Given the description of an element on the screen output the (x, y) to click on. 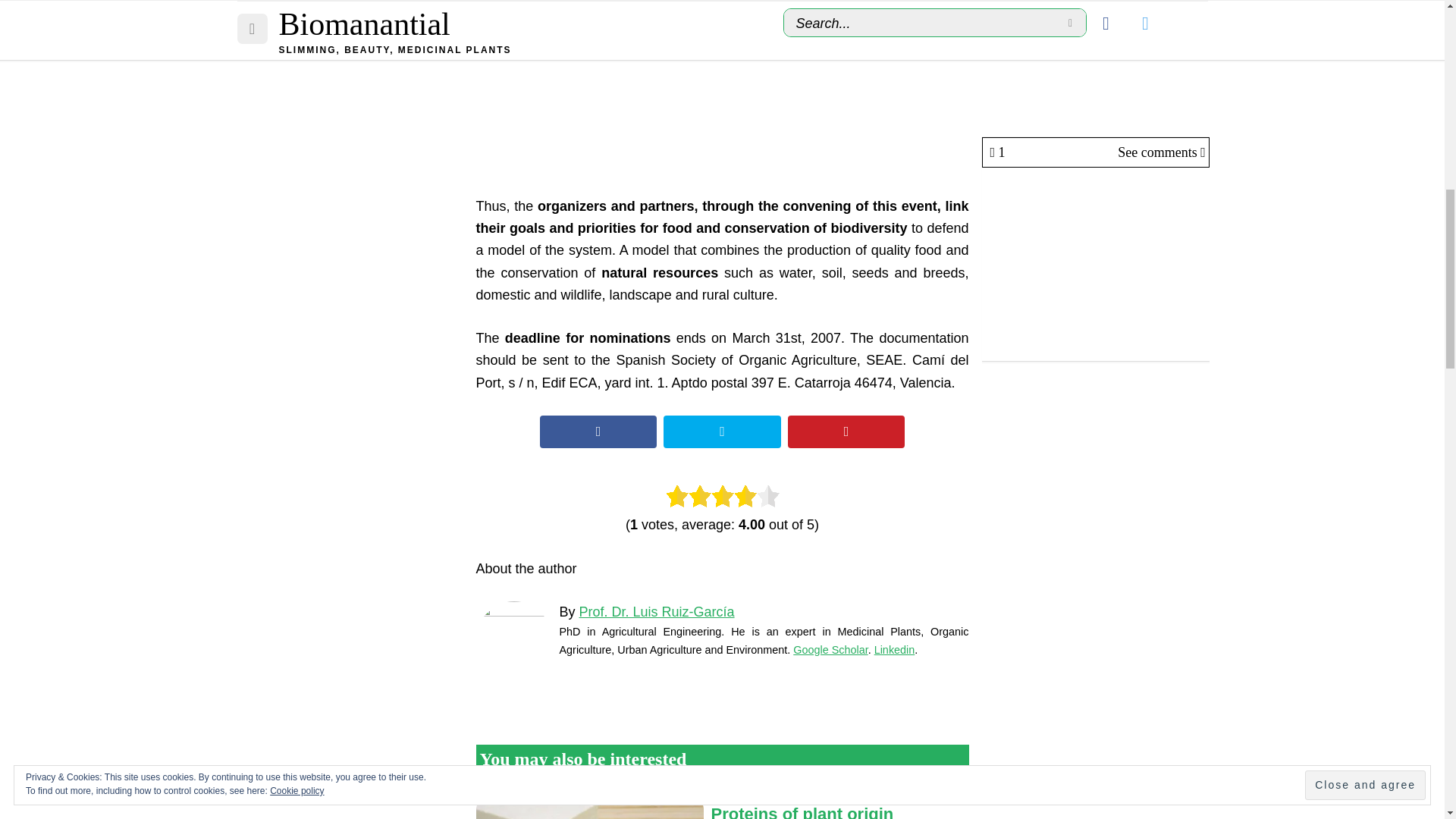
1 star (676, 495)
Proteins of plant origin (589, 805)
2 stars (699, 495)
3 stars (722, 495)
4 stars (745, 495)
5 stars (767, 495)
